Given the description of an element on the screen output the (x, y) to click on. 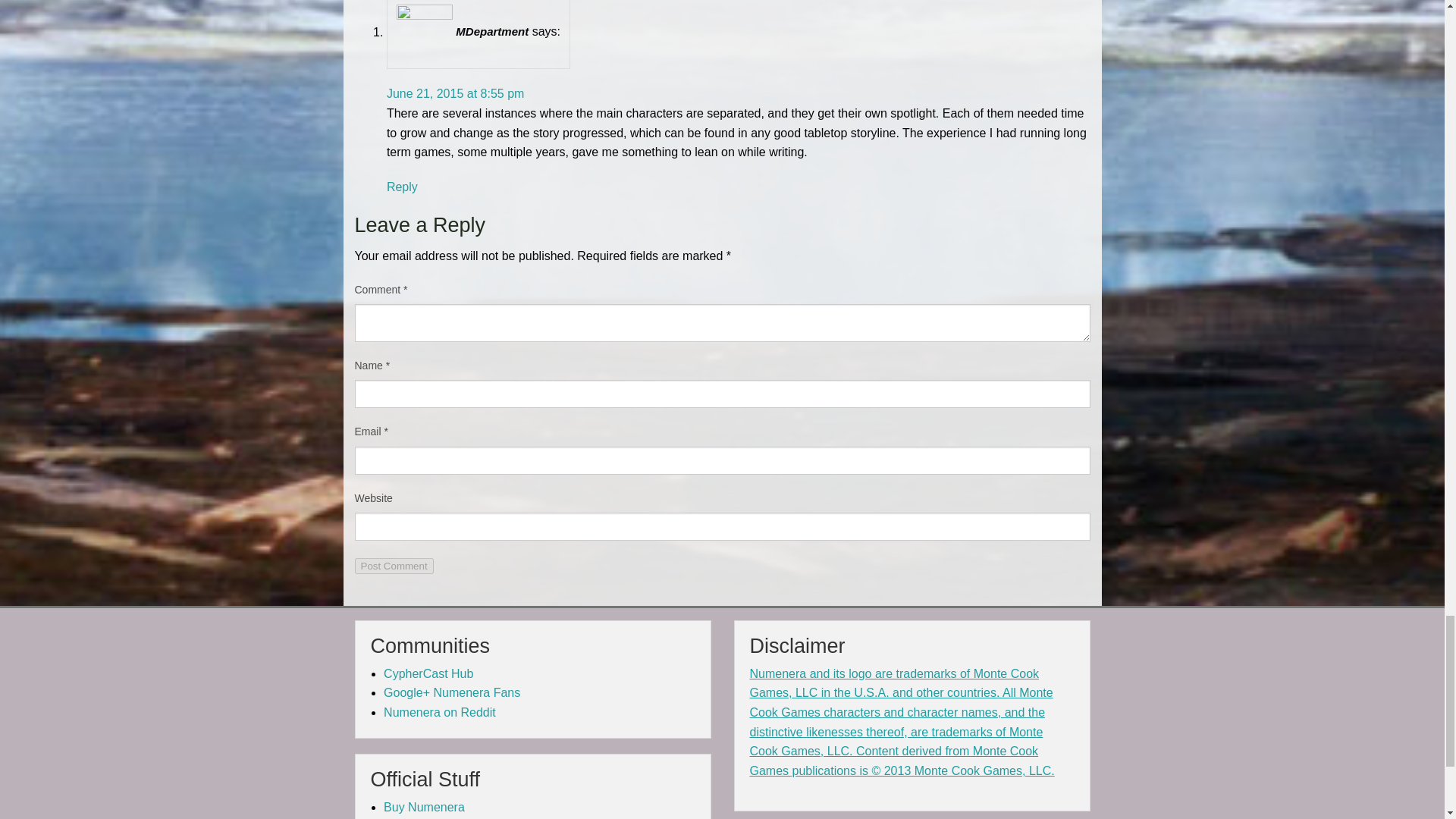
Read Full Disclaimer (901, 722)
Post Comment (394, 565)
